Given the description of an element on the screen output the (x, y) to click on. 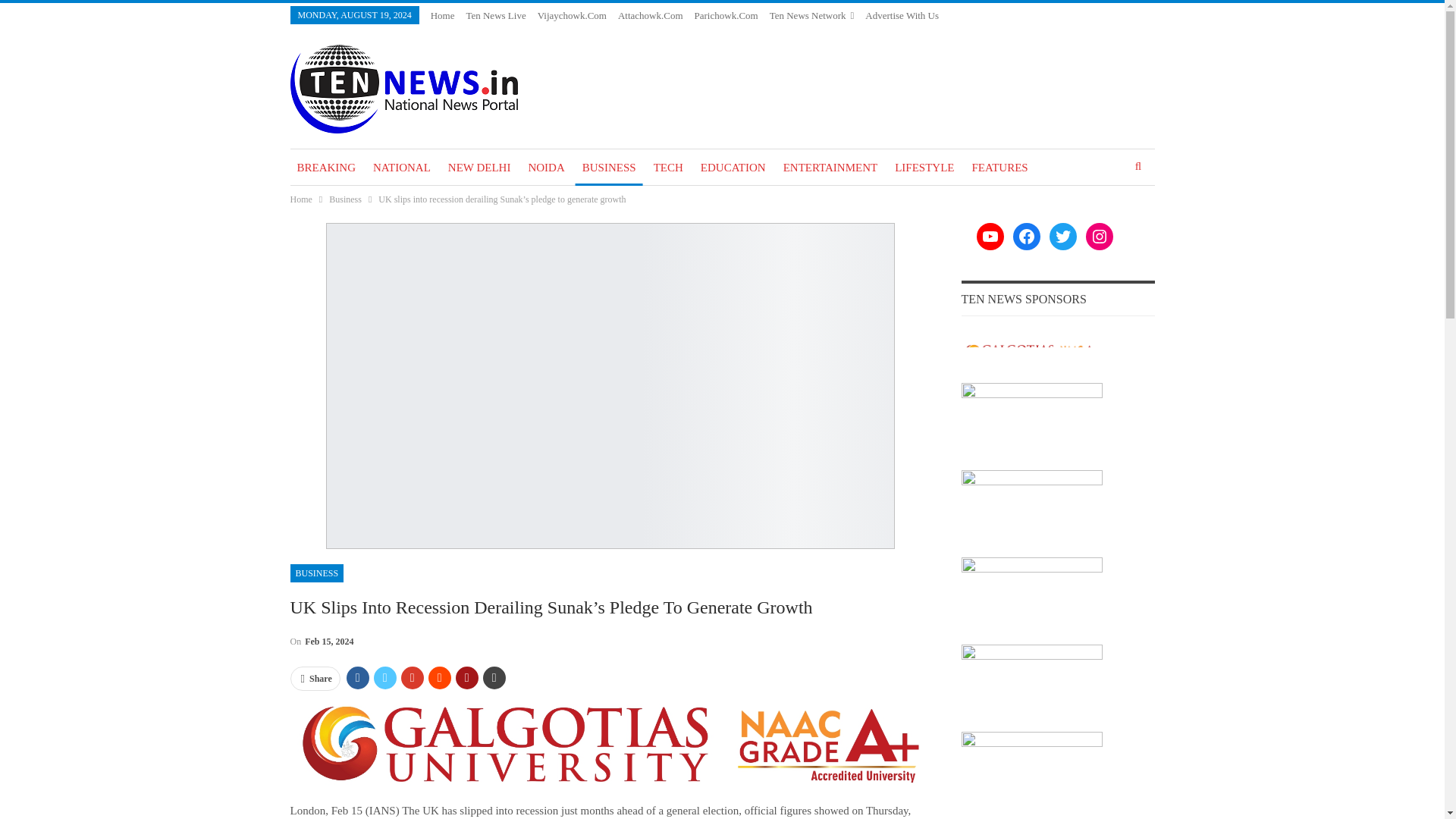
Contact Us (886, 34)
Home (442, 15)
Business (345, 199)
Careers (935, 34)
NATIONAL (402, 167)
Home (300, 199)
Parichowk.Com (726, 15)
Advertise With Us (901, 15)
BREAKING (325, 167)
NEW DELHI (479, 167)
